Given the description of an element on the screen output the (x, y) to click on. 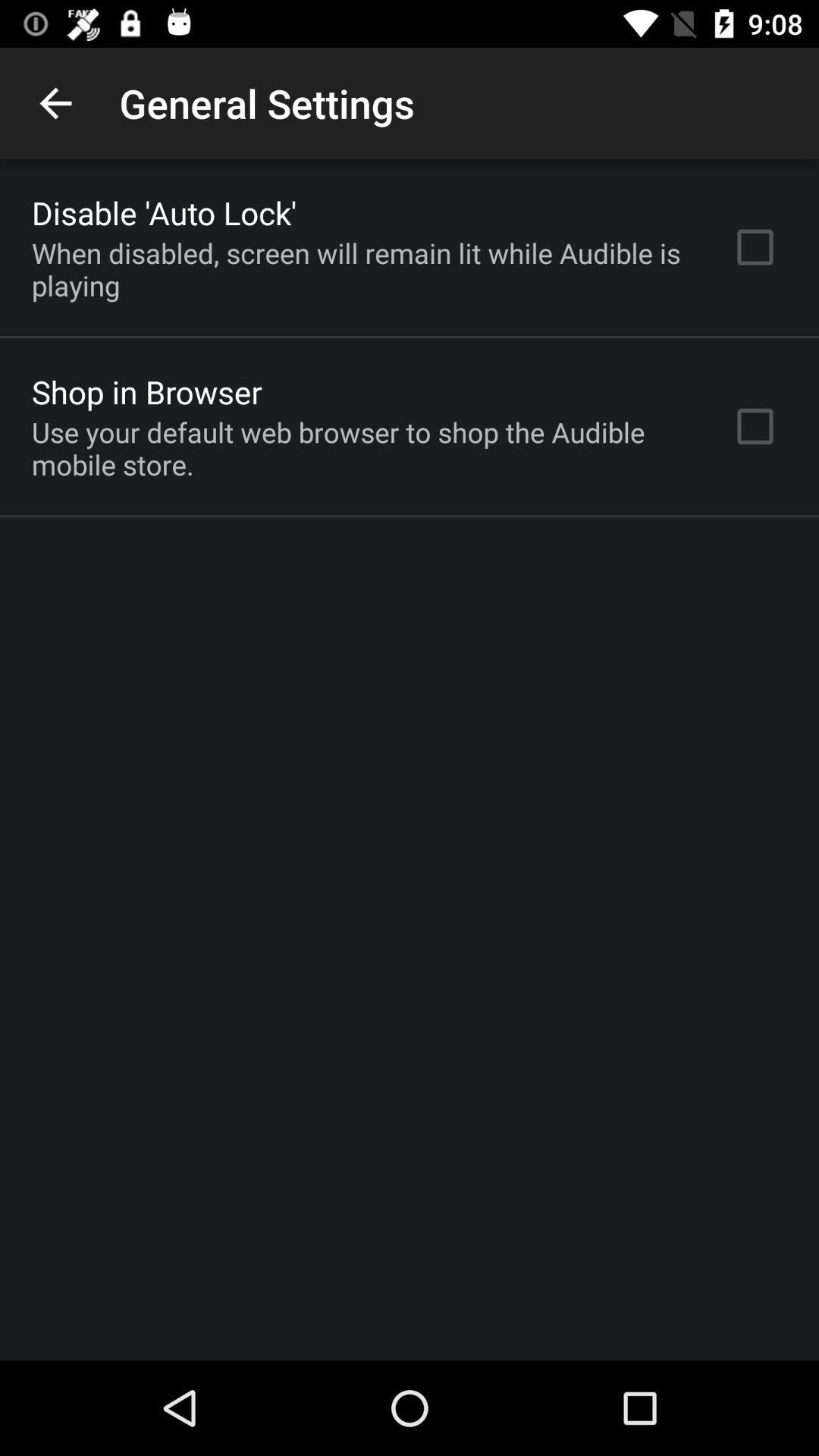
flip until the disable 'auto lock' item (163, 212)
